Given the description of an element on the screen output the (x, y) to click on. 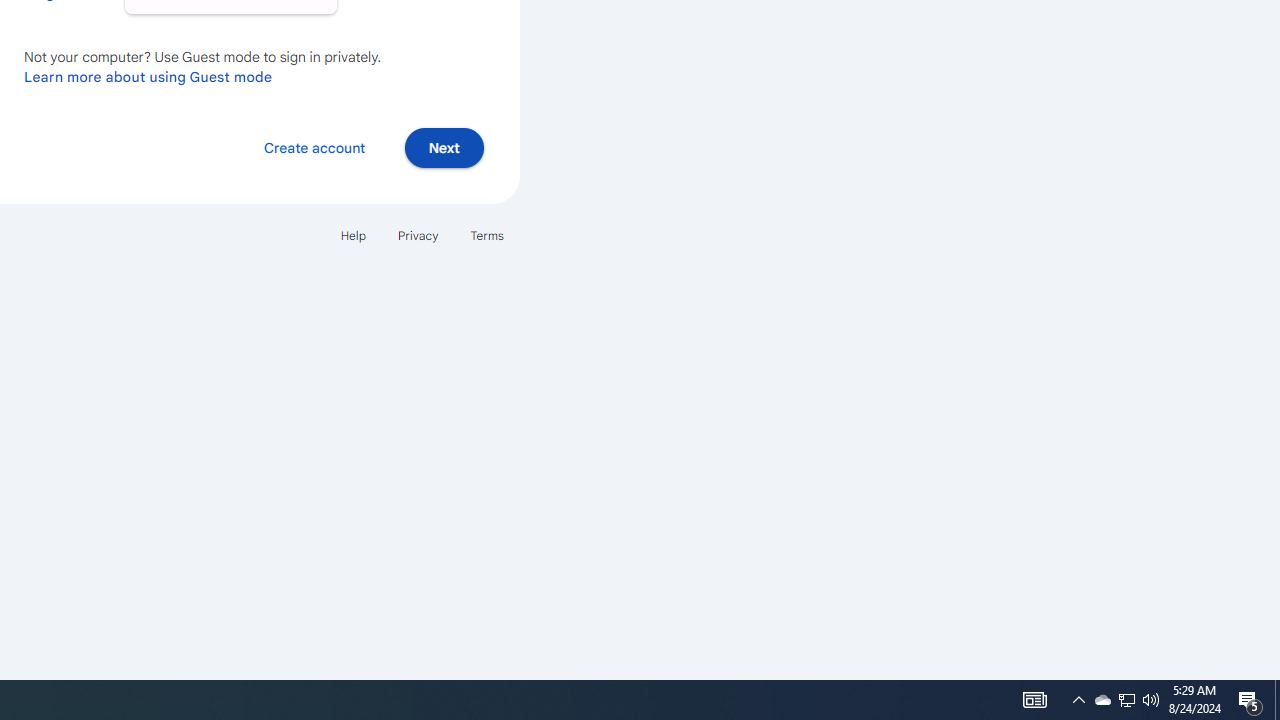
Next (443, 146)
Create account (314, 146)
Learn more about using Guest mode (148, 76)
